Given the description of an element on the screen output the (x, y) to click on. 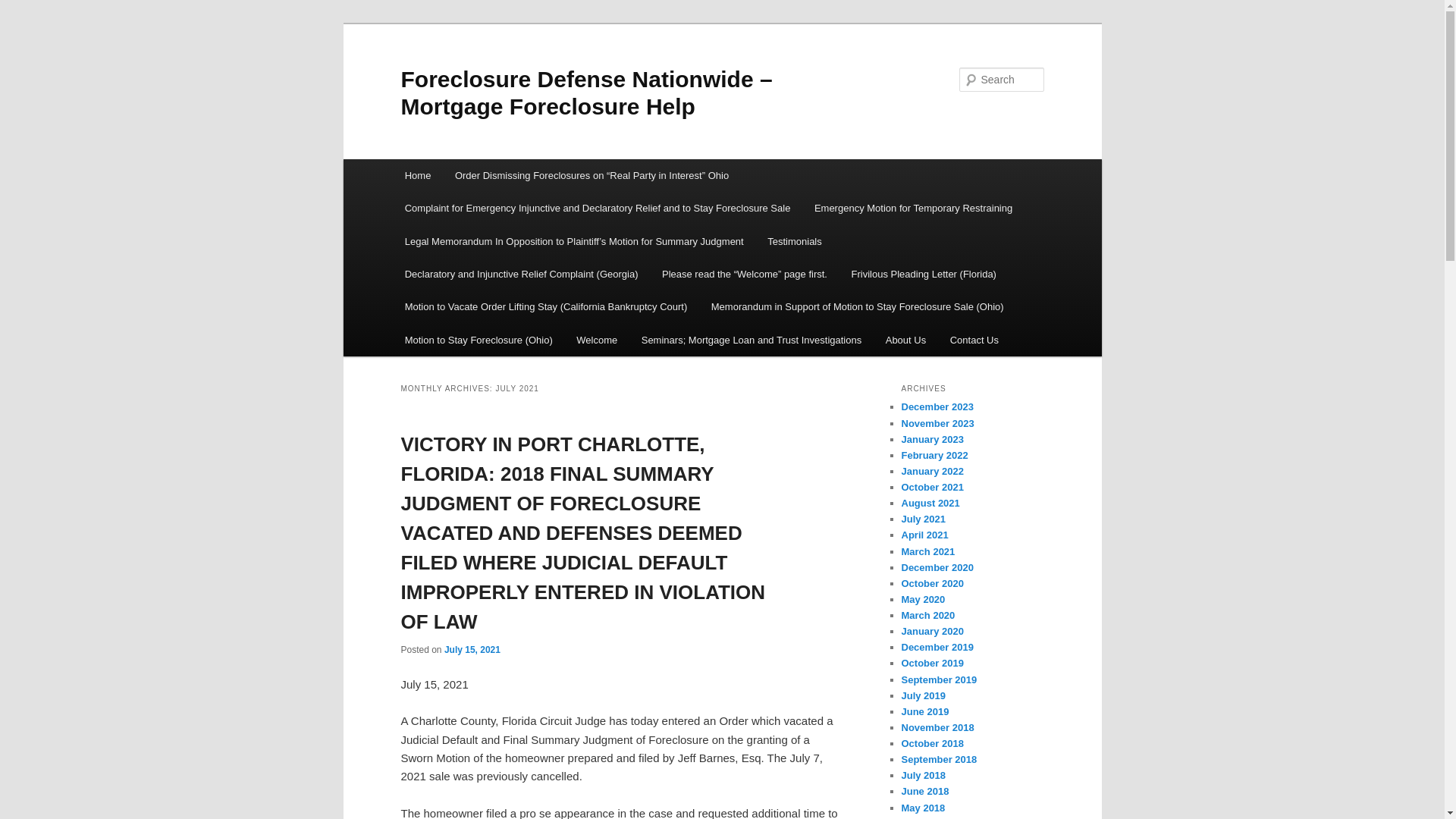
January 2020 (931, 631)
Search (24, 8)
July 2021 (922, 518)
Contact Us (973, 339)
Emergency Motion for Temporary Restraining (913, 207)
Welcome (596, 339)
March 2020 (928, 614)
December 2023 (936, 406)
February 2022 (934, 455)
January 2022 (931, 471)
May 2020 (922, 599)
About Us (905, 339)
April 2021 (924, 534)
October 2021 (931, 487)
Seminars; Mortgage Loan and Trust Investigations (750, 339)
